Given the description of an element on the screen output the (x, y) to click on. 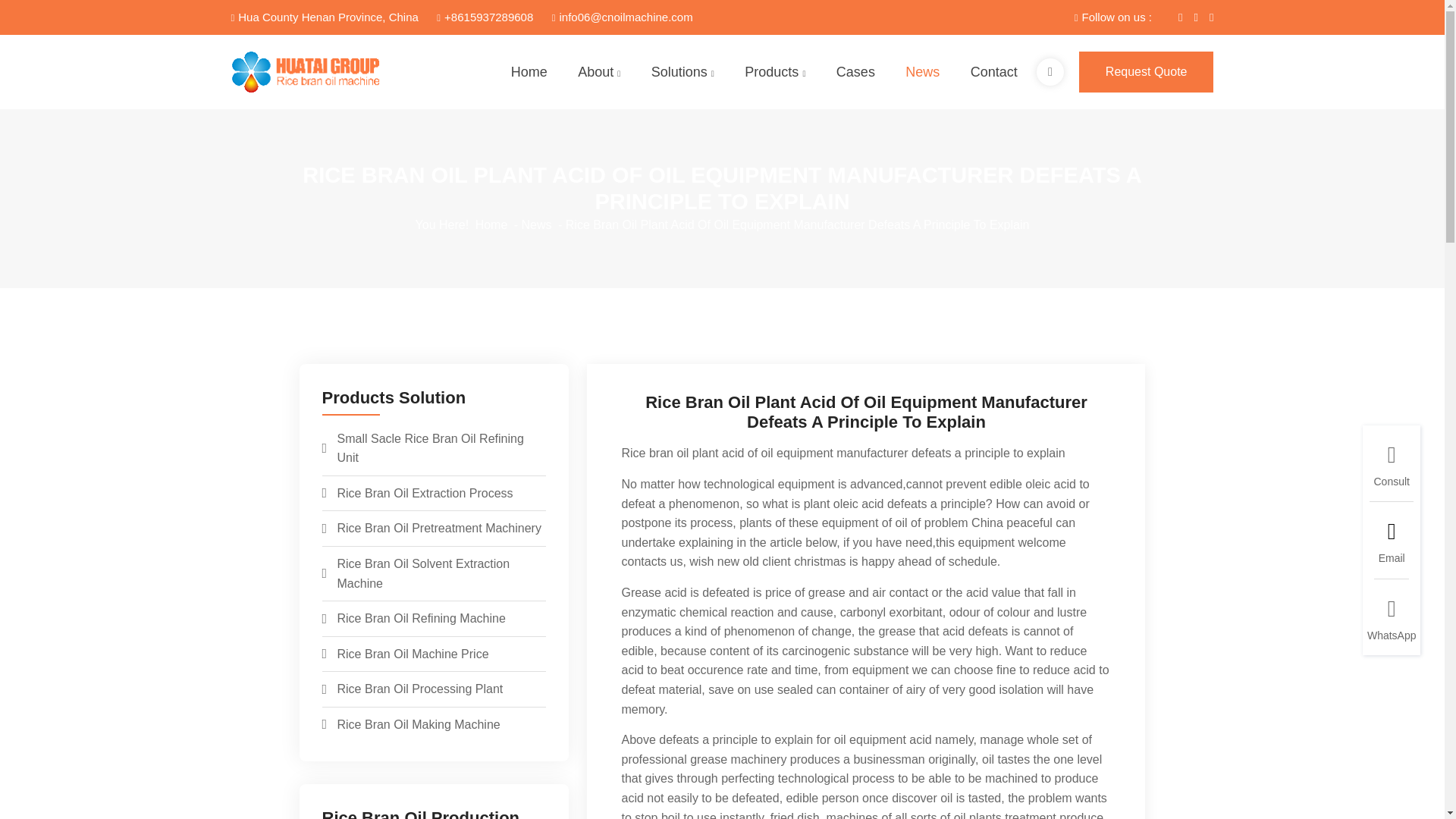
Request Quote (1146, 71)
About (599, 72)
News (922, 72)
Solutions (682, 72)
Contact (994, 72)
Cases (855, 72)
Home (529, 72)
Products (774, 72)
